Given the description of an element on the screen output the (x, y) to click on. 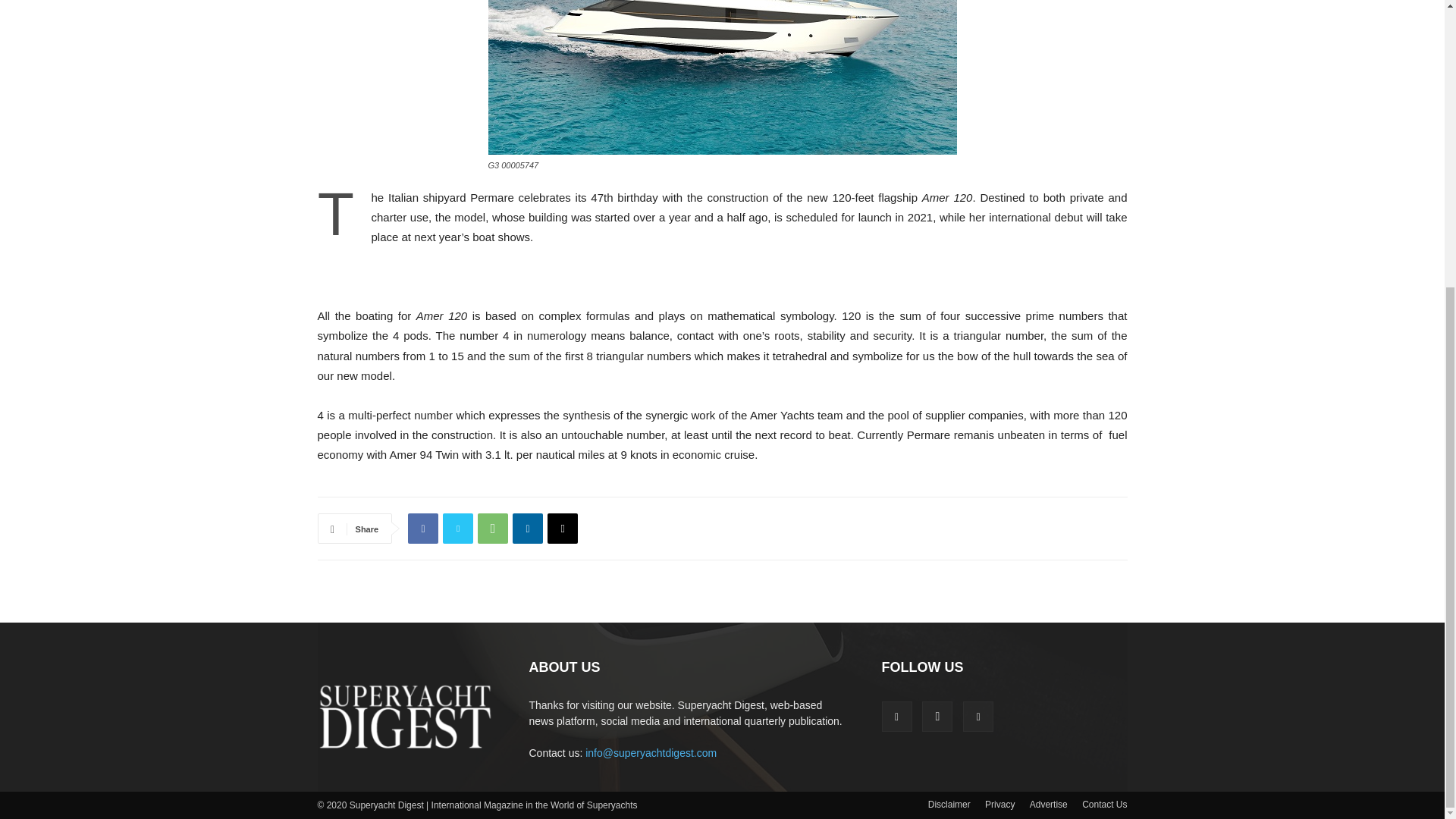
WhatsApp (492, 528)
Facebook (422, 528)
Linkedin (527, 528)
Facebook (895, 716)
Instagram (936, 716)
Email (562, 528)
Twitter (457, 528)
